Given the description of an element on the screen output the (x, y) to click on. 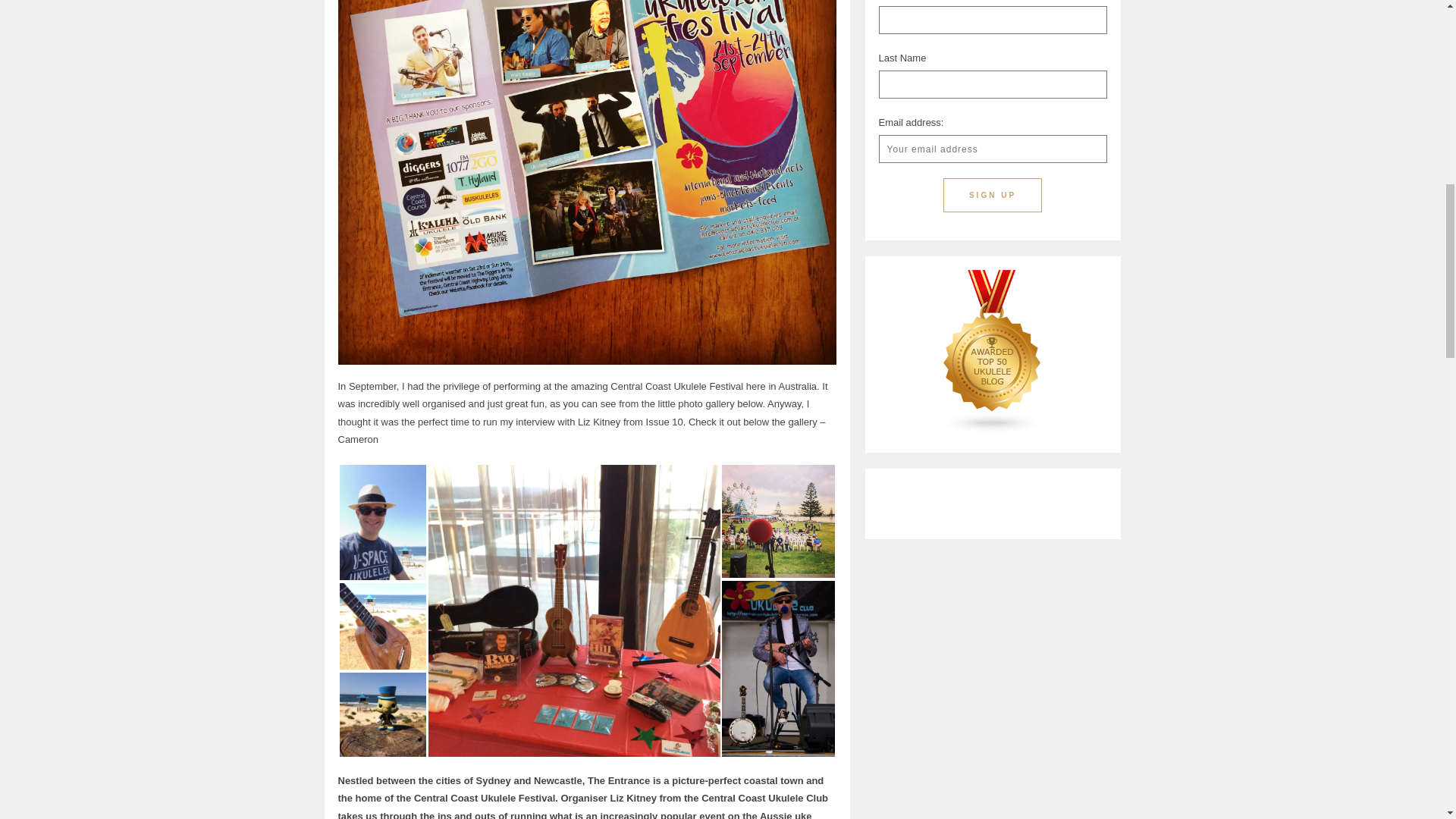
Sign up (992, 195)
Ukulele blogs (992, 429)
